Given the description of an element on the screen output the (x, y) to click on. 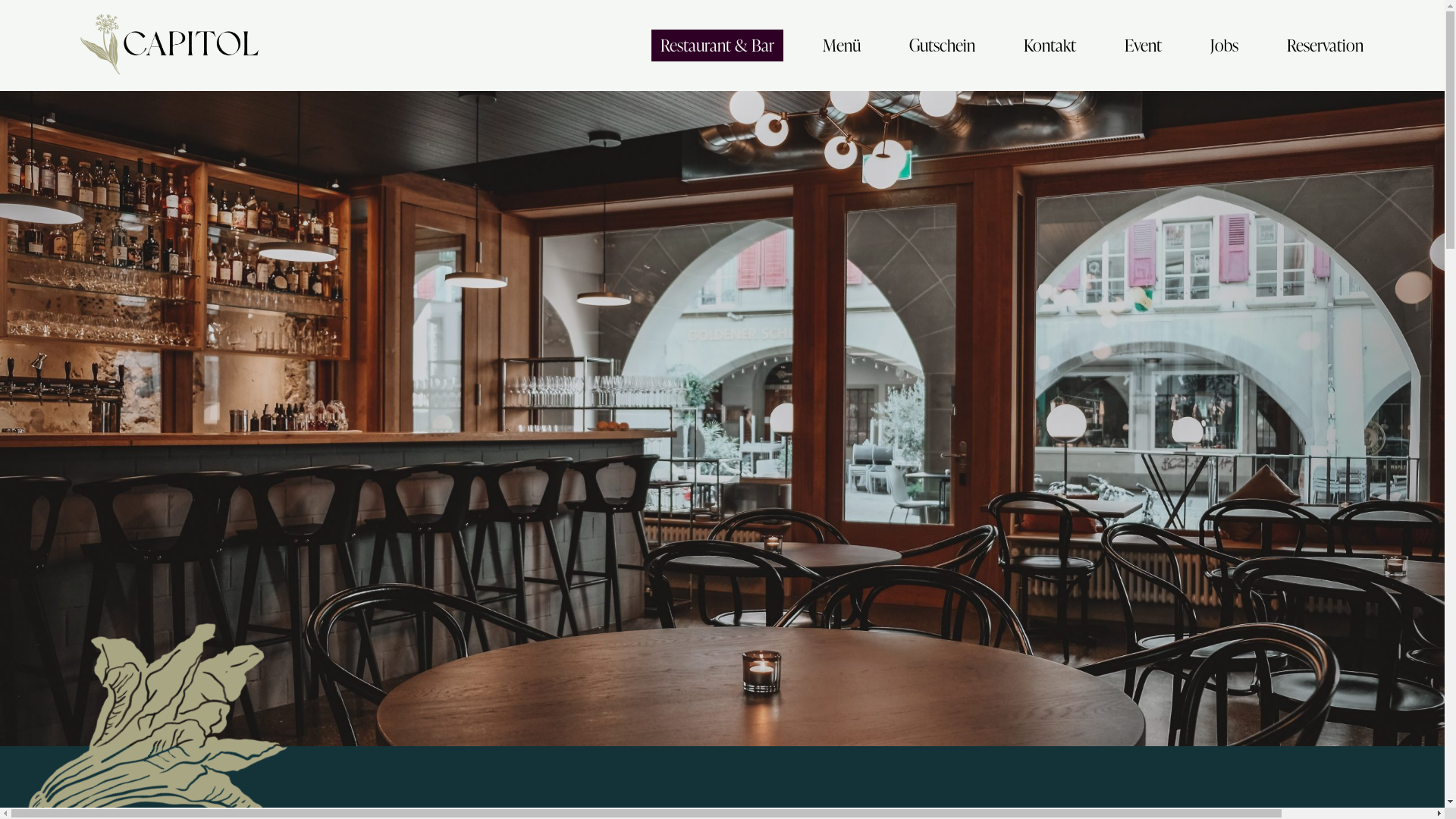
Event Element type: text (1142, 45)
Gutschein Element type: text (942, 45)
Kontakt Element type: text (1049, 45)
Restaurant & Bar Element type: text (717, 45)
Reservation Element type: text (1324, 45)
Jobs Element type: text (1224, 45)
